Given the description of an element on the screen output the (x, y) to click on. 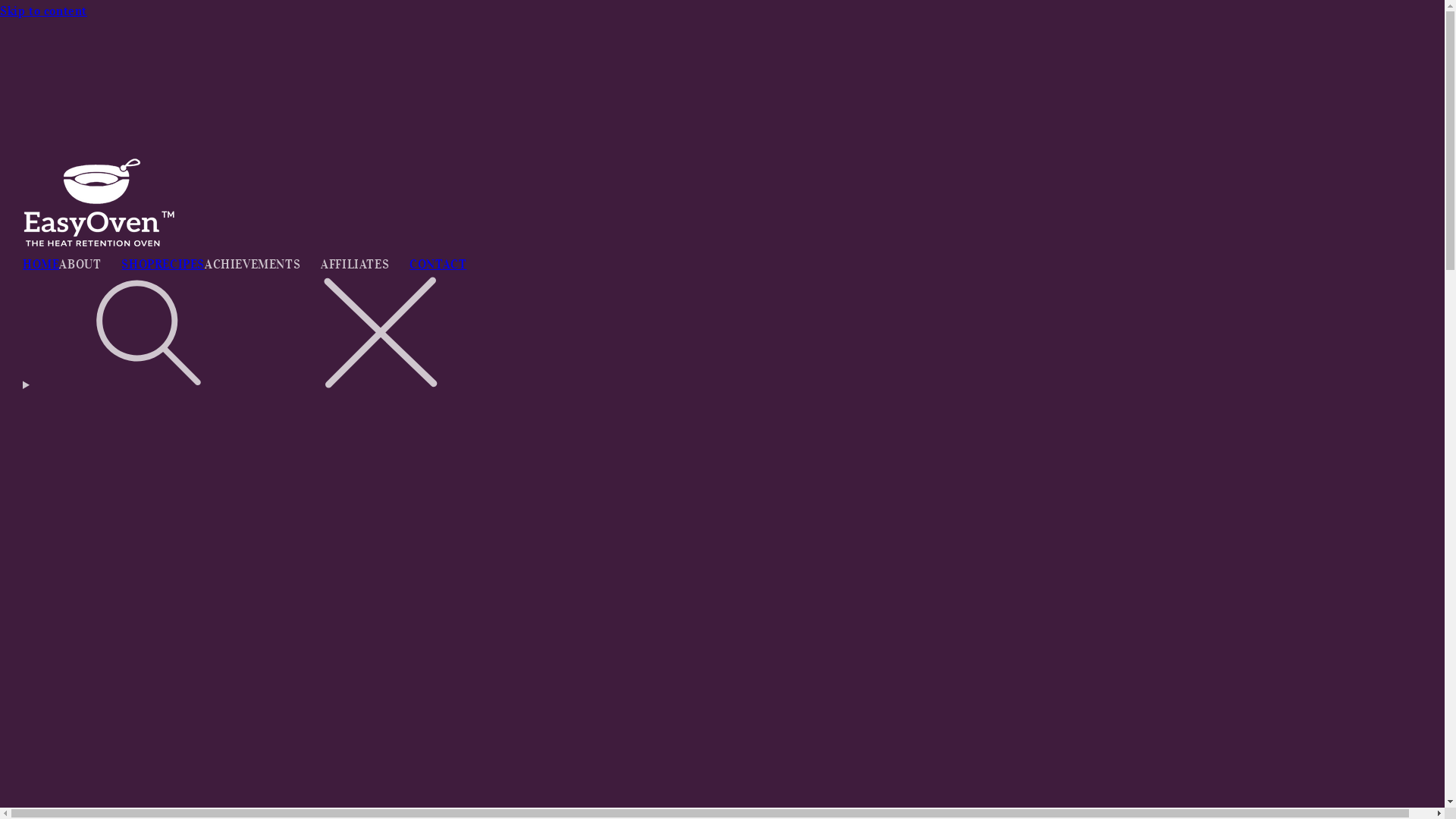
RECIPES Element type: text (179, 264)
SHOP Element type: text (137, 264)
Skip to content Element type: text (722, 10)
CONTACT Element type: text (437, 264)
HOME Element type: text (40, 264)
